Given the description of an element on the screen output the (x, y) to click on. 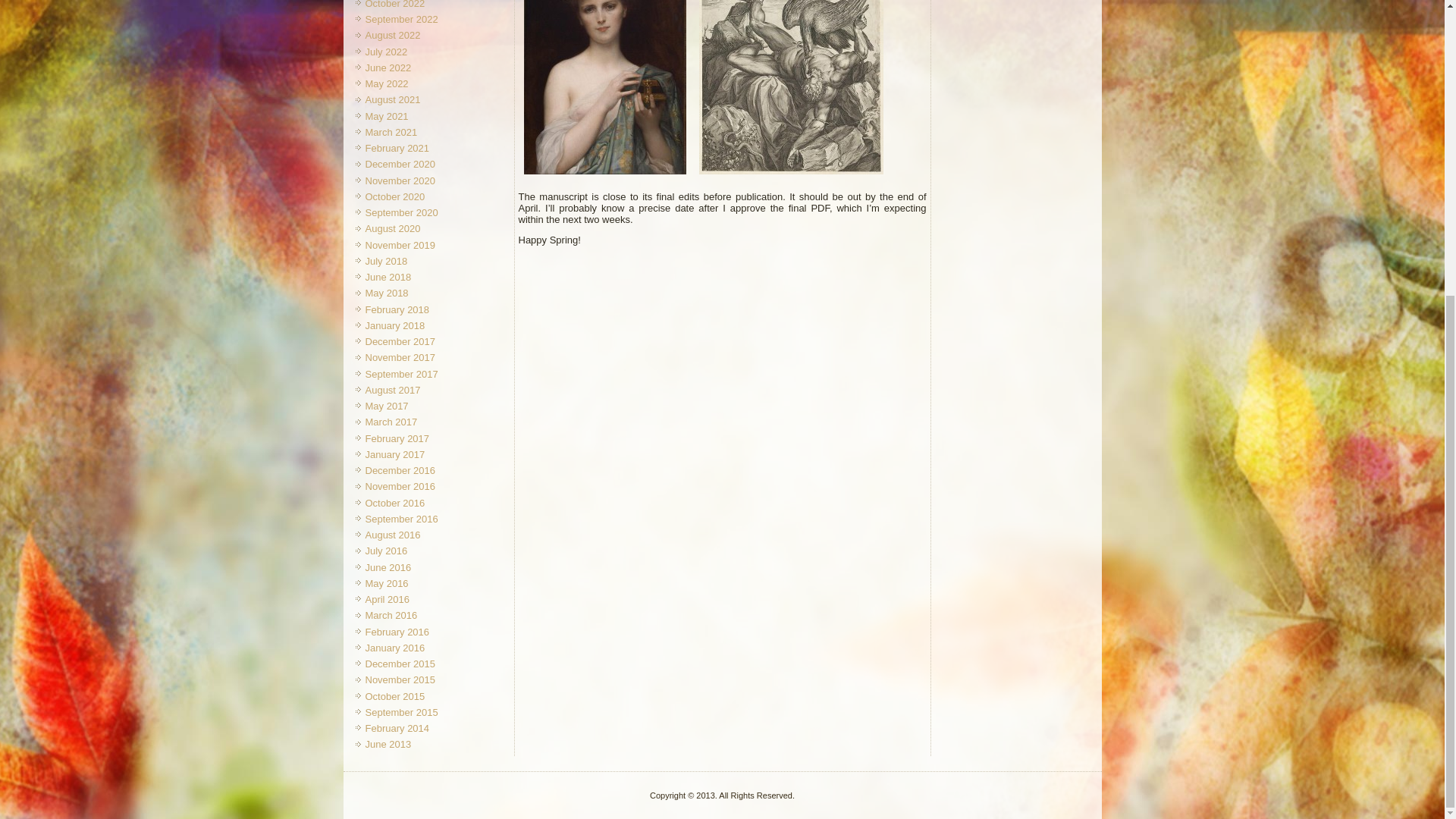
September 2020 (401, 212)
October 2022 (395, 4)
May 2018 (387, 292)
August 2020 (392, 228)
June 2022 (388, 67)
March 2021 (391, 132)
November 2019 (400, 244)
June 2018 (388, 276)
December 2020 (400, 163)
May 2022 (387, 83)
February 2018 (397, 309)
August 2022 (392, 34)
September 2022 (401, 19)
August 2021 (392, 99)
November 2020 (400, 180)
